Given the description of an element on the screen output the (x, y) to click on. 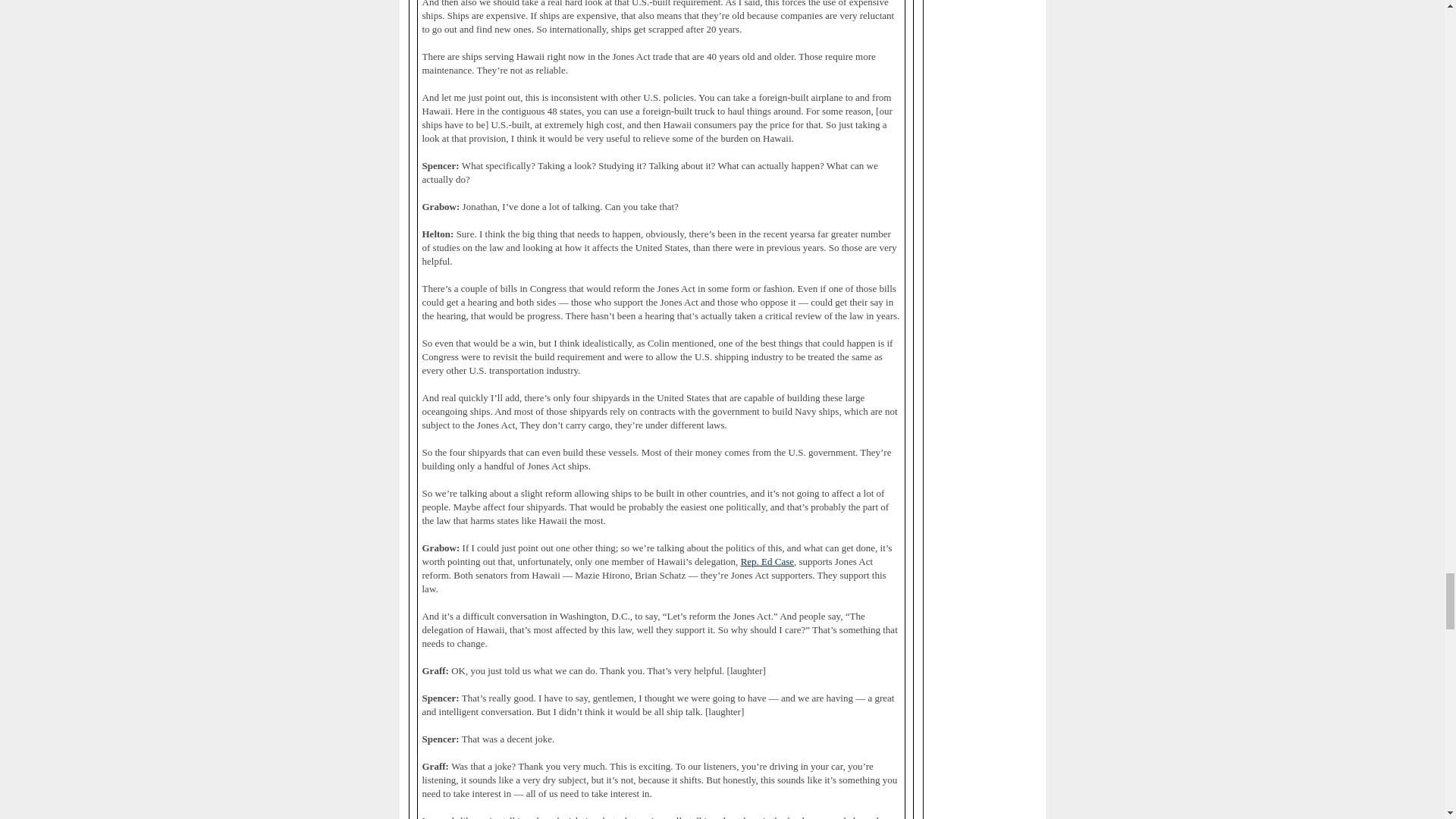
Rep. Ed Case (767, 561)
